Given the description of an element on the screen output the (x, y) to click on. 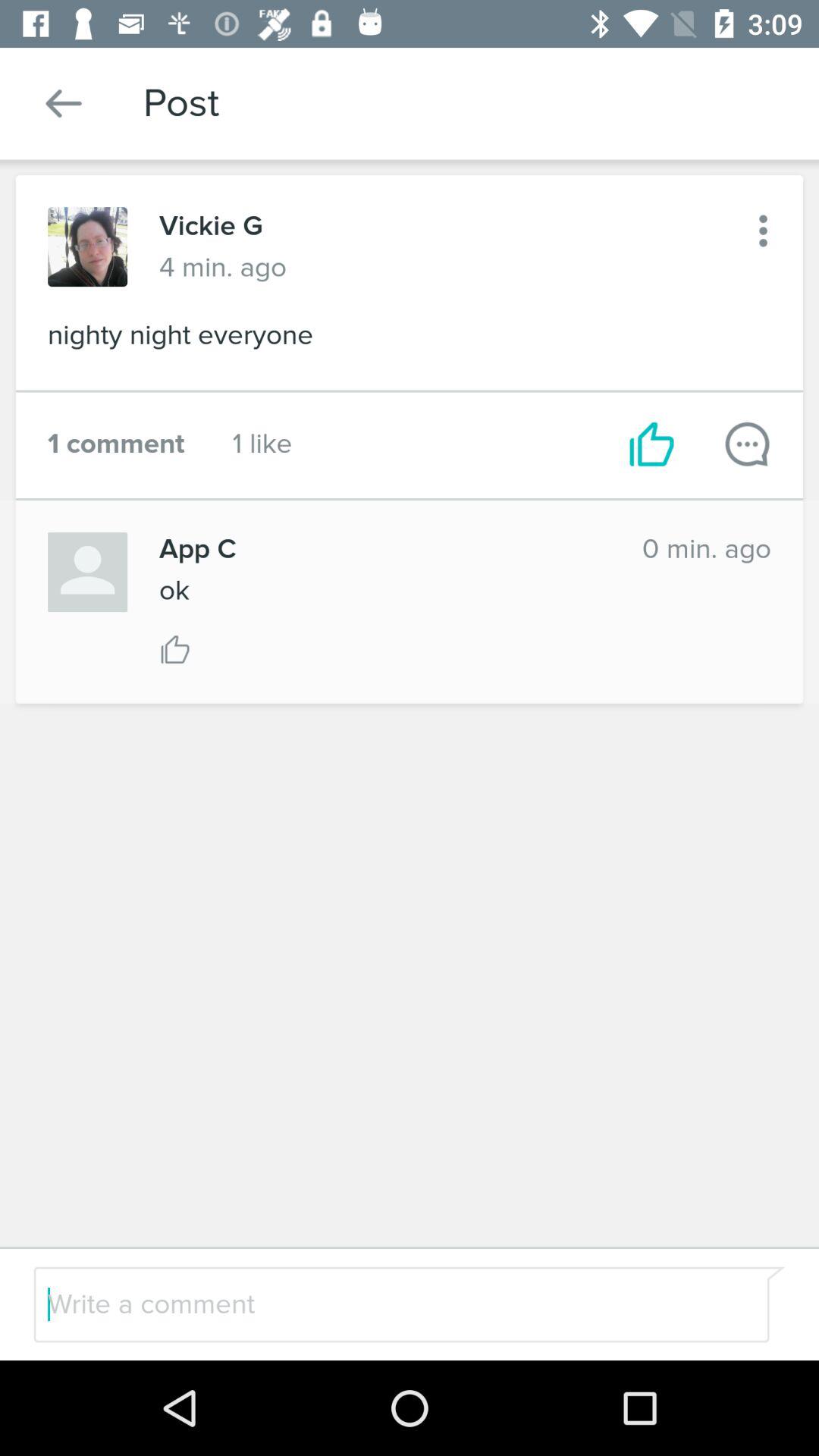
tap the app next to post icon (63, 103)
